Given the description of an element on the screen output the (x, y) to click on. 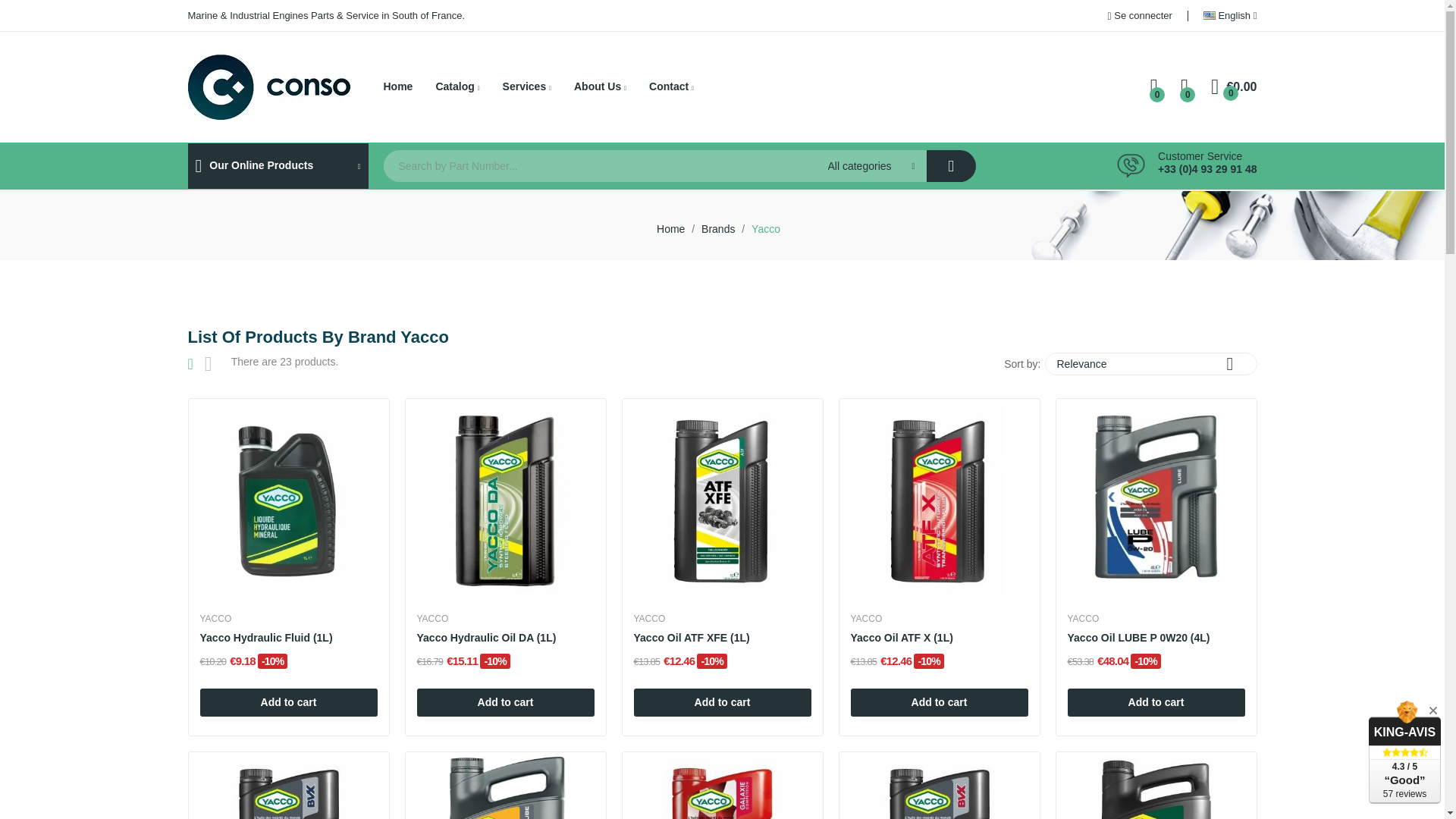
Catalog (457, 86)
Add to cart (288, 702)
Add to cart (505, 702)
Home (398, 86)
Add to cart (721, 702)
Se connecter (1146, 16)
Add to cart (938, 702)
